Given the description of an element on the screen output the (x, y) to click on. 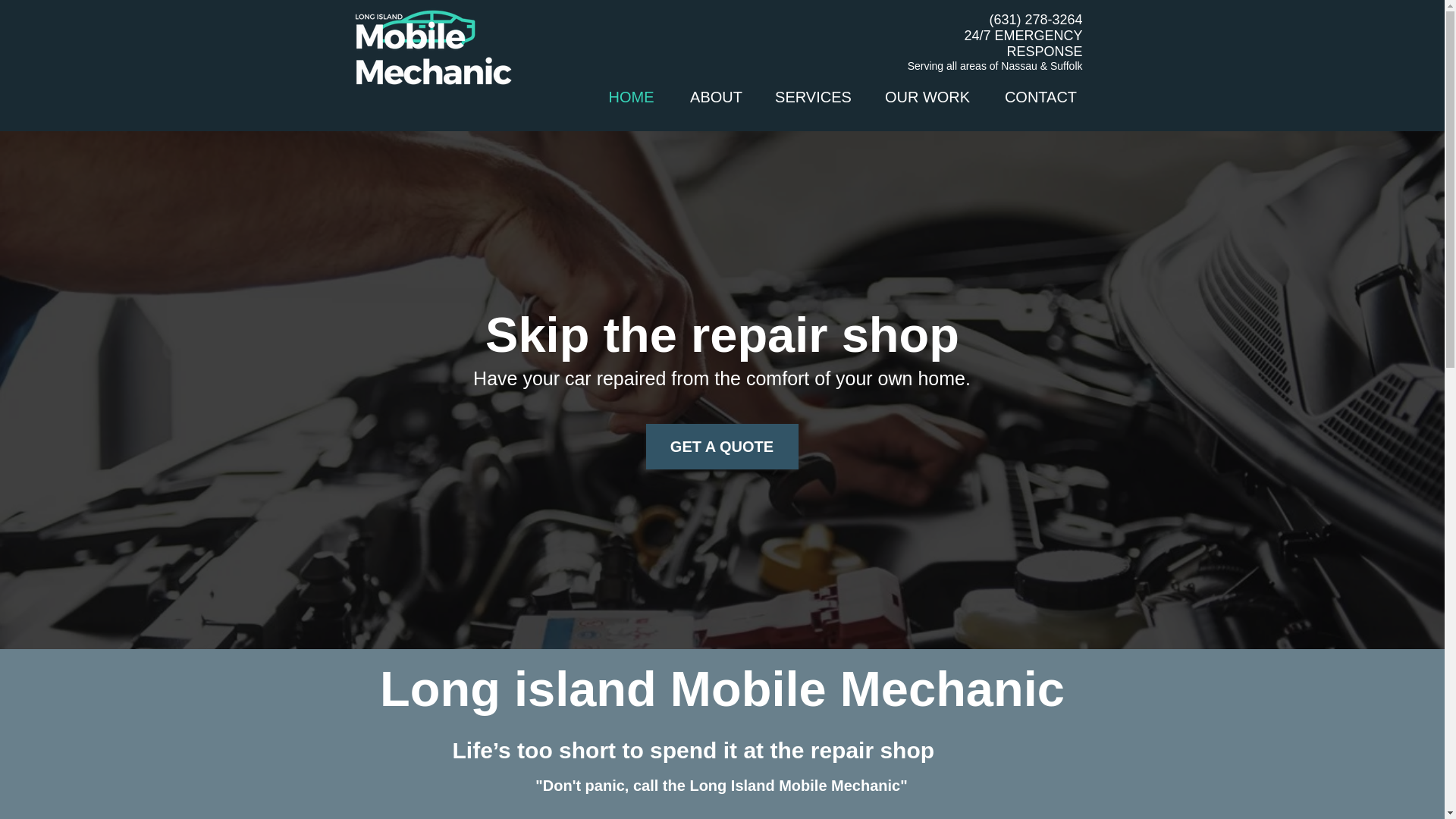
ABOUT (715, 96)
CONTACT (1040, 96)
GET A QUOTE (721, 446)
HOME (630, 96)
OUR WORK (927, 96)
SERVICES (813, 96)
